Given the description of an element on the screen output the (x, y) to click on. 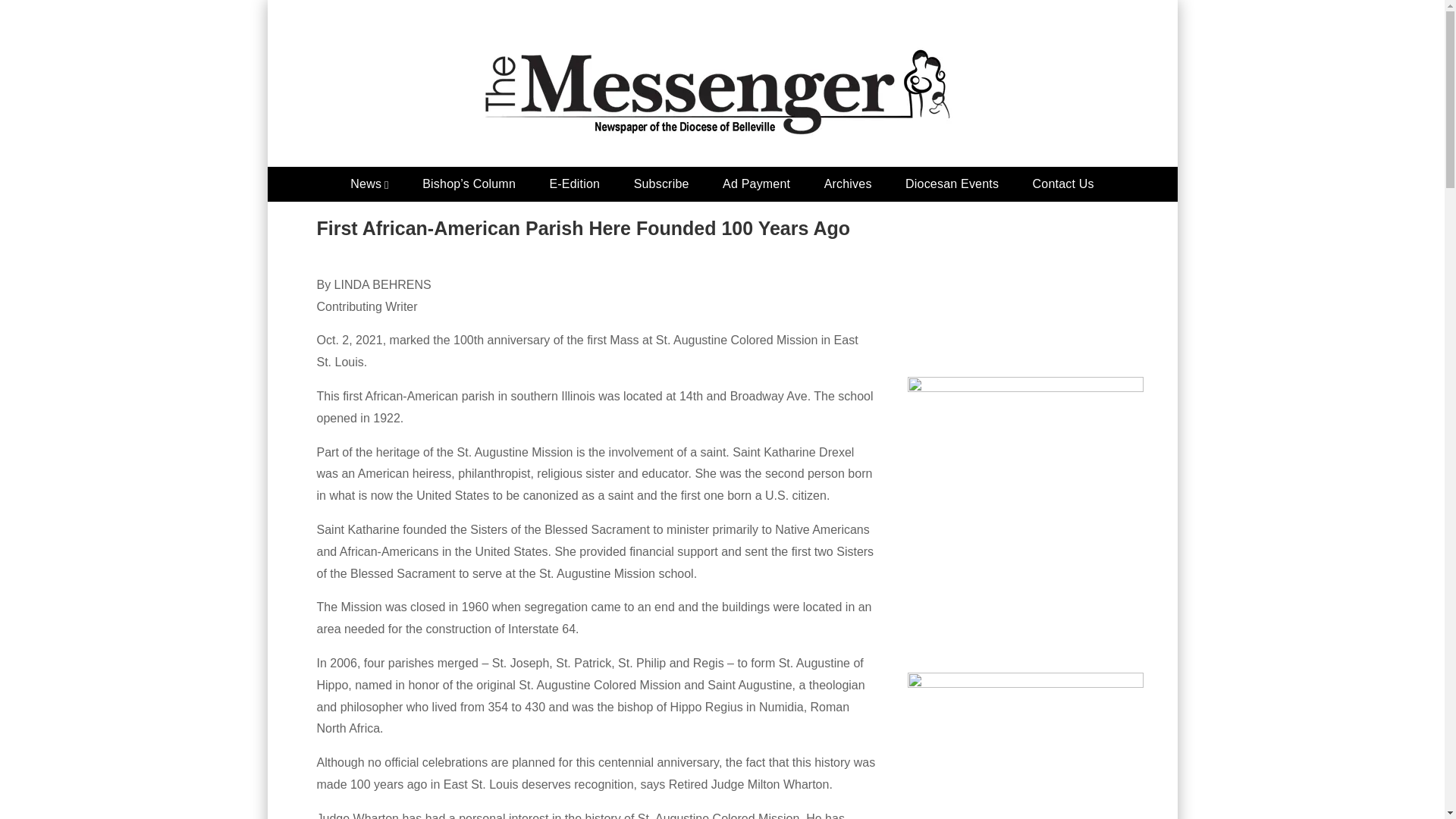
News (369, 184)
E-Edition (574, 184)
Archives (847, 184)
Ad Payment (756, 184)
Subscribe (661, 184)
